Given the description of an element on the screen output the (x, y) to click on. 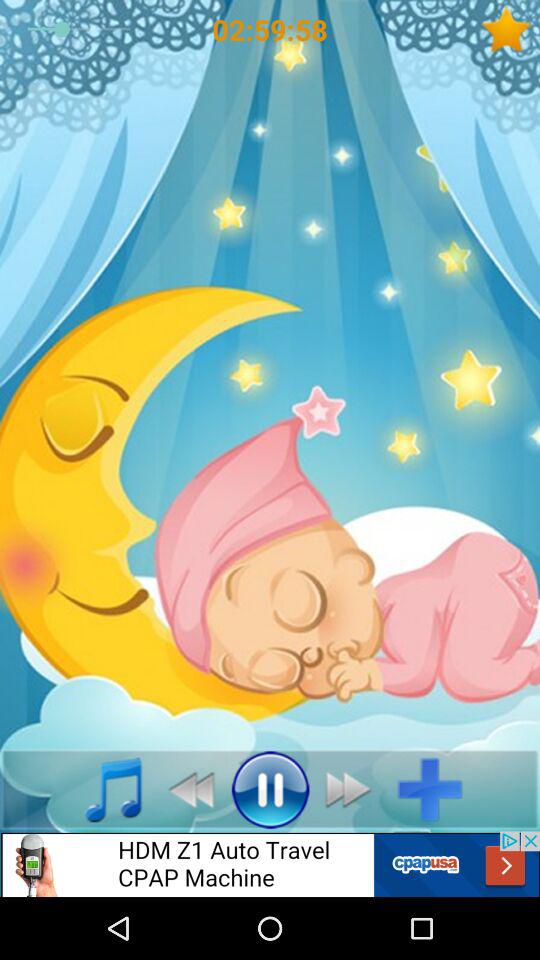
open advertisement (270, 864)
